Given the description of an element on the screen output the (x, y) to click on. 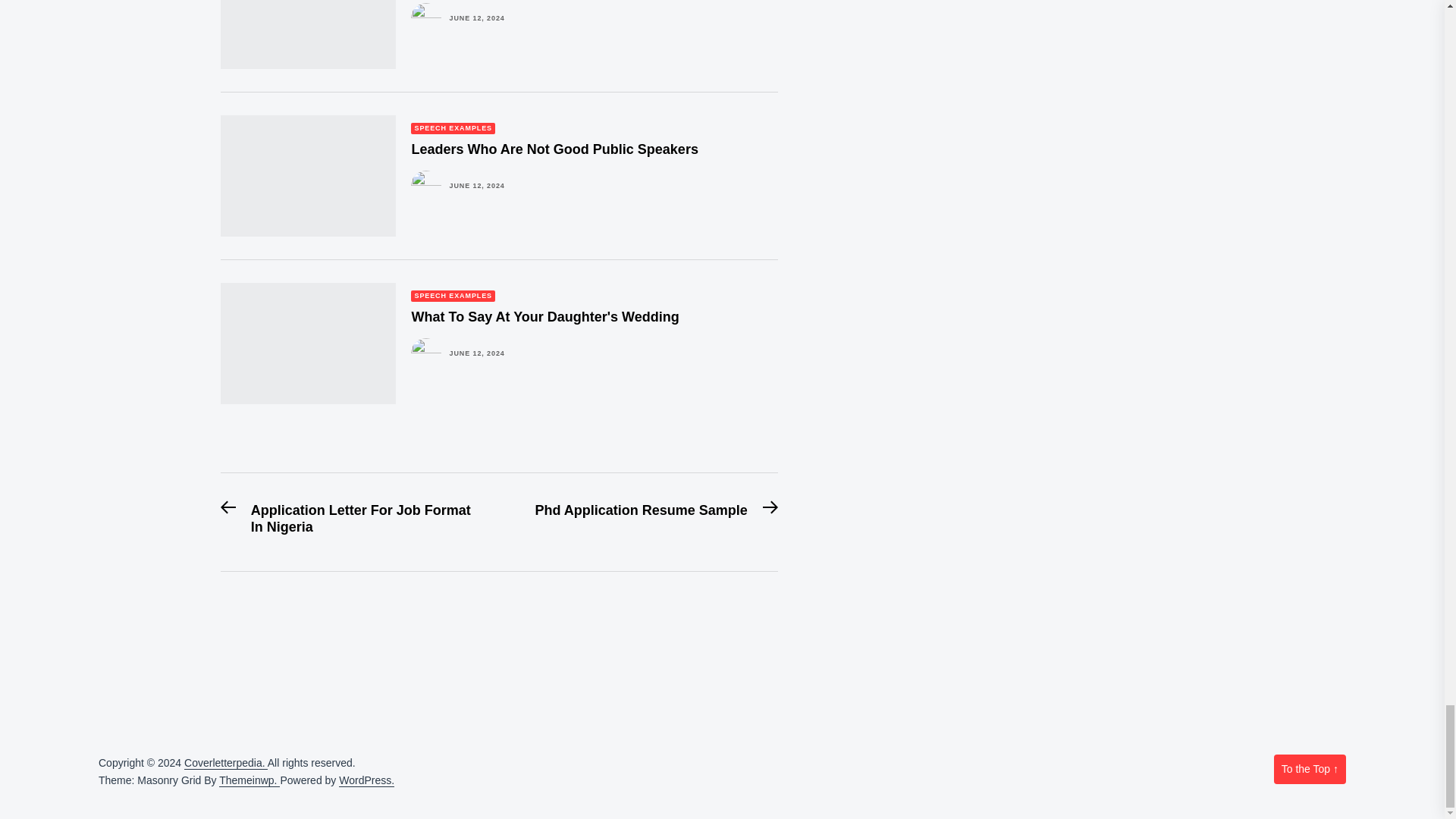
Coverletterpedia (225, 762)
Themeinwp (249, 780)
WordPress (366, 780)
